Given the description of an element on the screen output the (x, y) to click on. 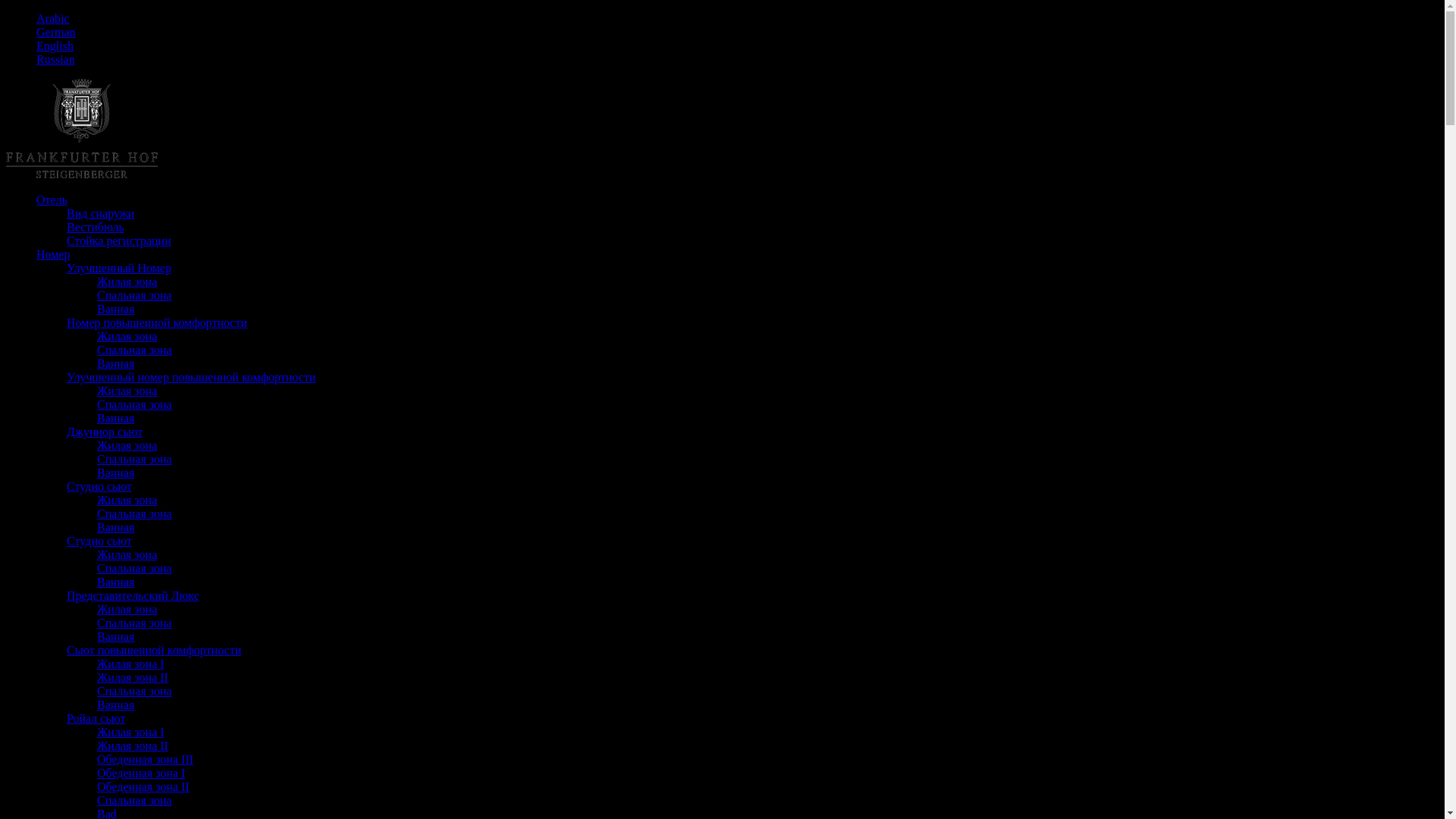
Arabic Element type: text (52, 18)
English Element type: text (54, 45)
Russian Element type: text (55, 59)
German Element type: text (55, 31)
